Given the description of an element on the screen output the (x, y) to click on. 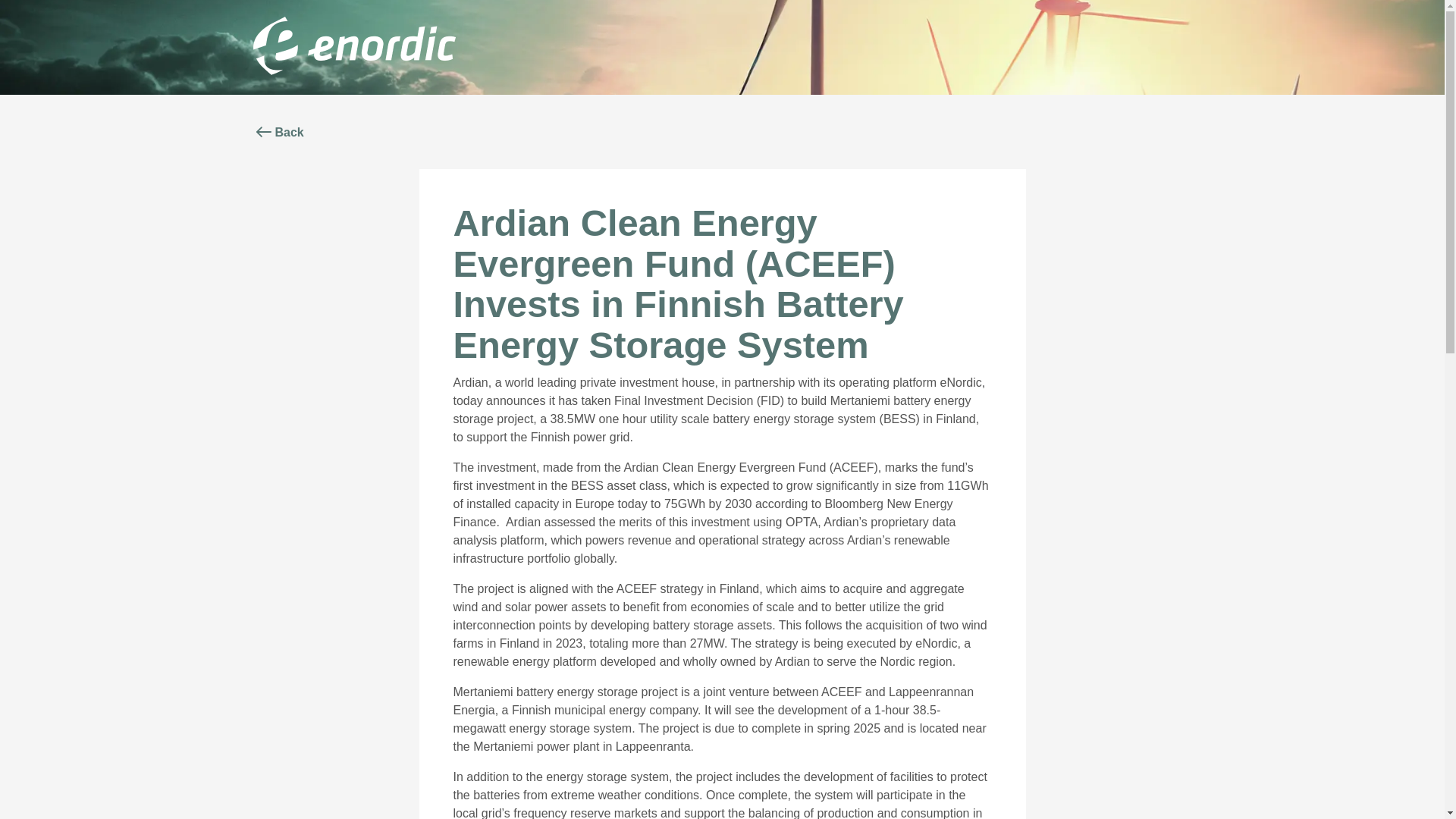
Back (276, 132)
